Given the description of an element on the screen output the (x, y) to click on. 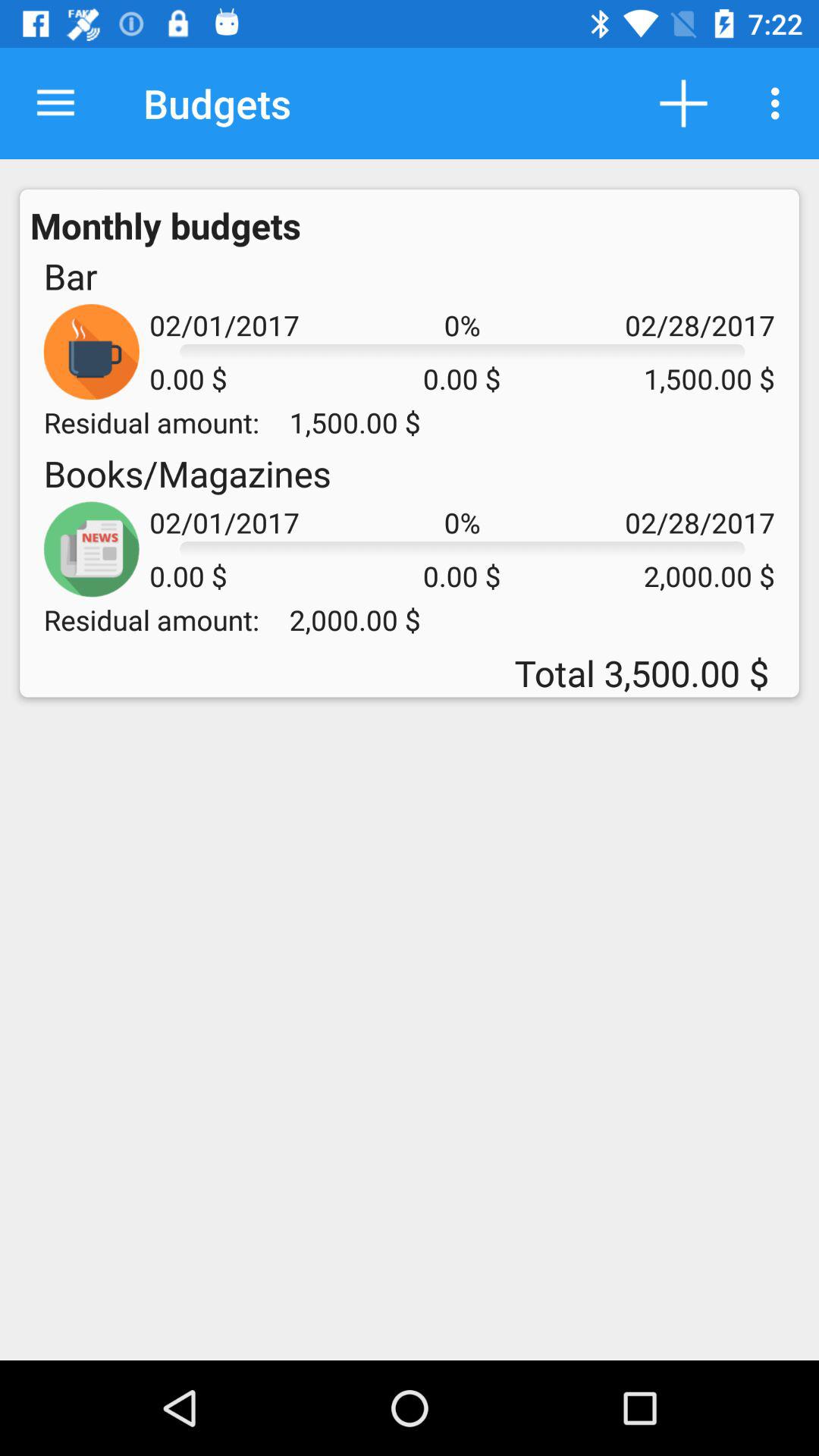
select item next to 0% icon (187, 473)
